Given the description of an element on the screen output the (x, y) to click on. 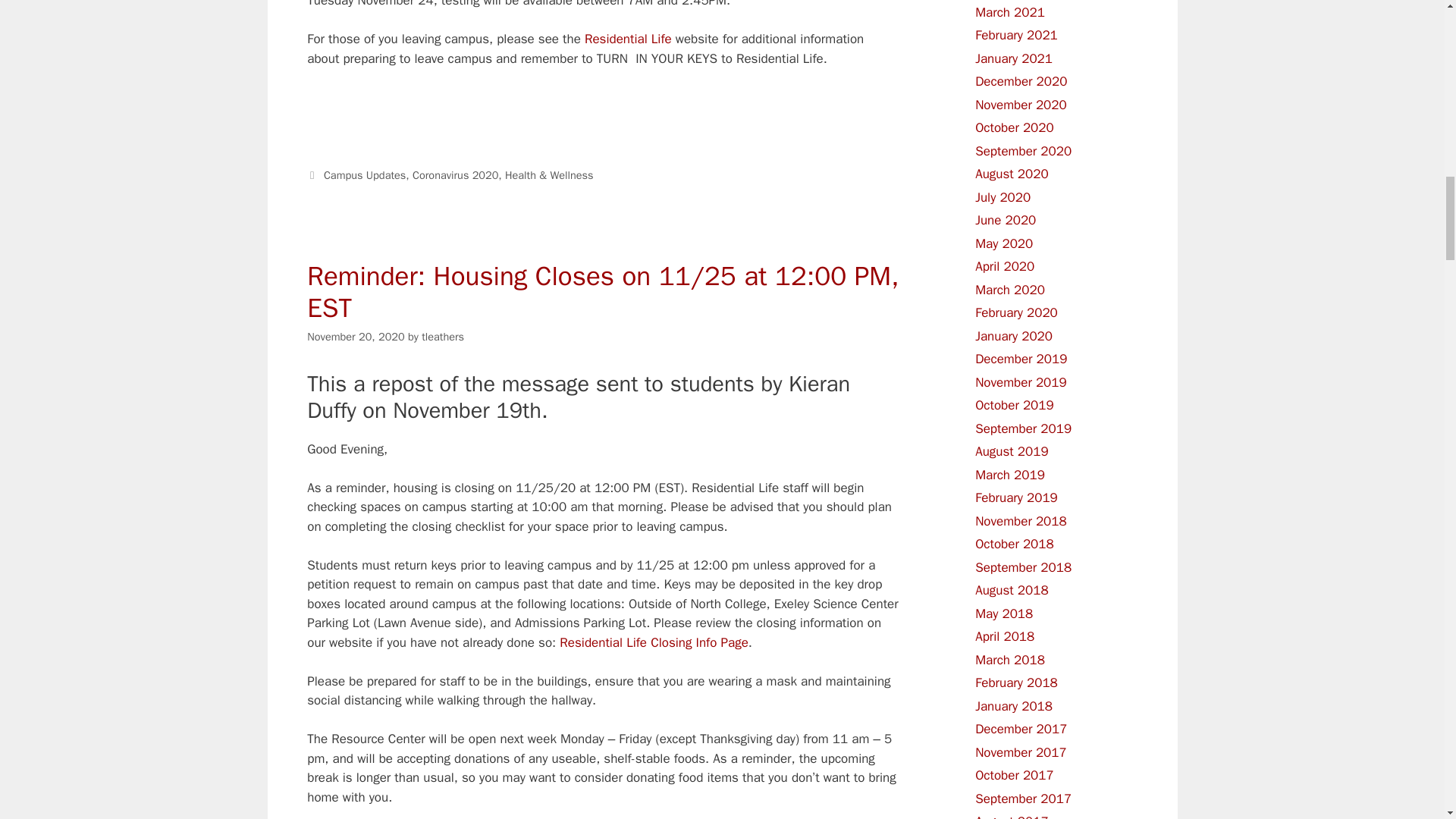
View all posts by tleathers (443, 336)
